Given the description of an element on the screen output the (x, y) to click on. 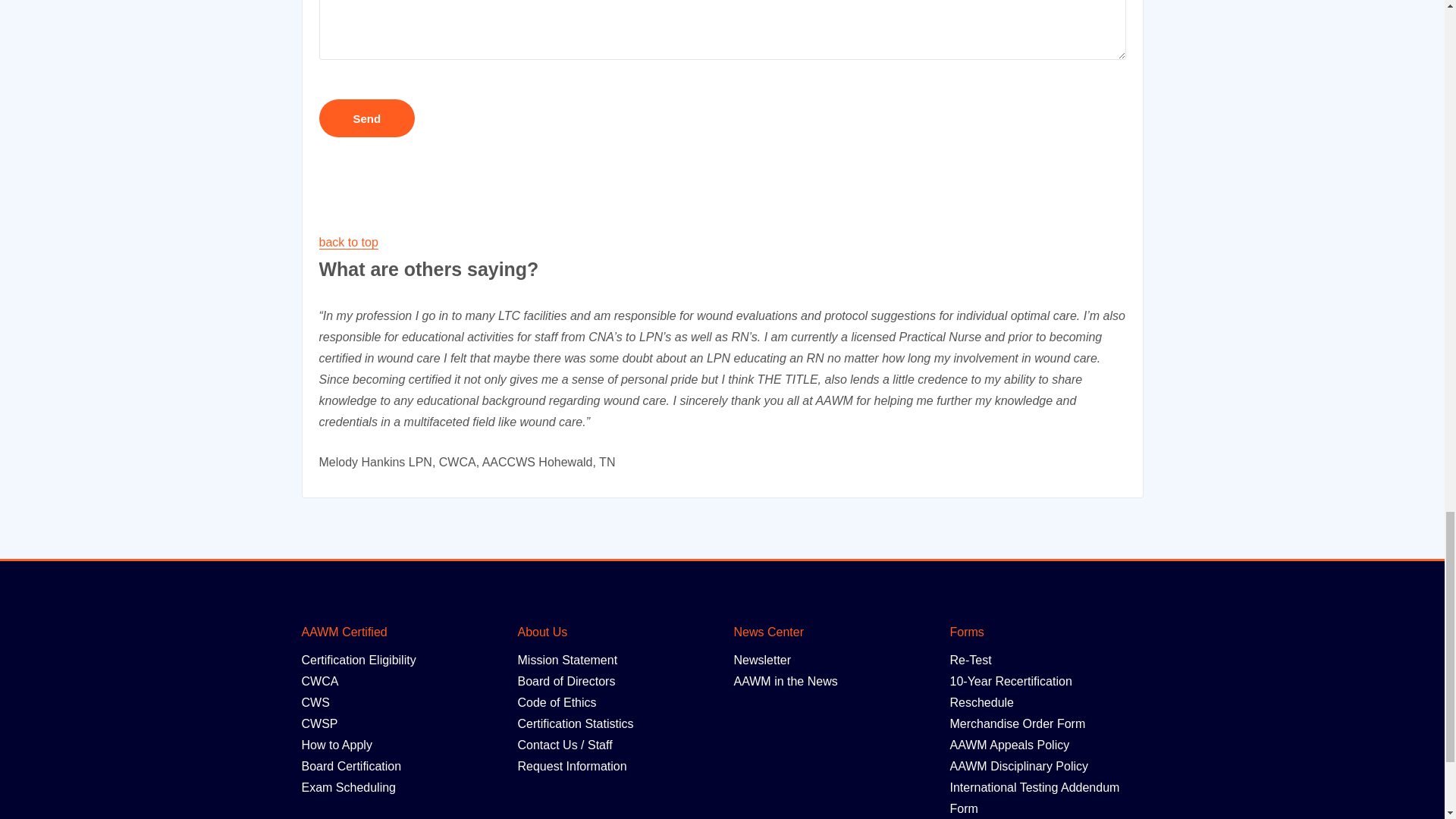
Send (366, 118)
back to top (347, 241)
Send (366, 118)
